Given the description of an element on the screen output the (x, y) to click on. 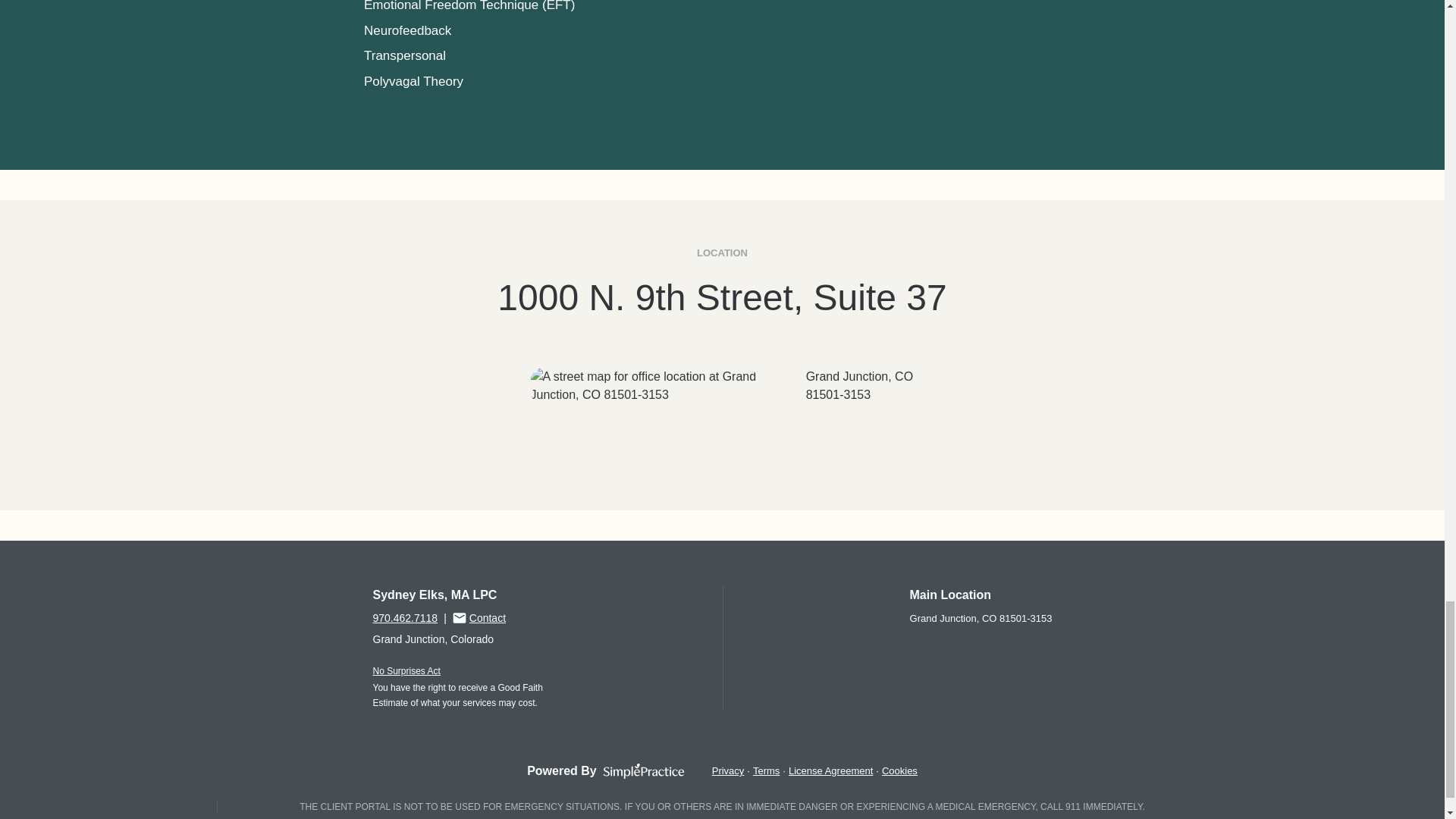
License Agreement (830, 770)
Contact (478, 617)
Privacy (727, 770)
970.462.7118 (405, 617)
Terms (765, 770)
No Surprises Act (406, 670)
Cookies (899, 770)
